Given the description of an element on the screen output the (x, y) to click on. 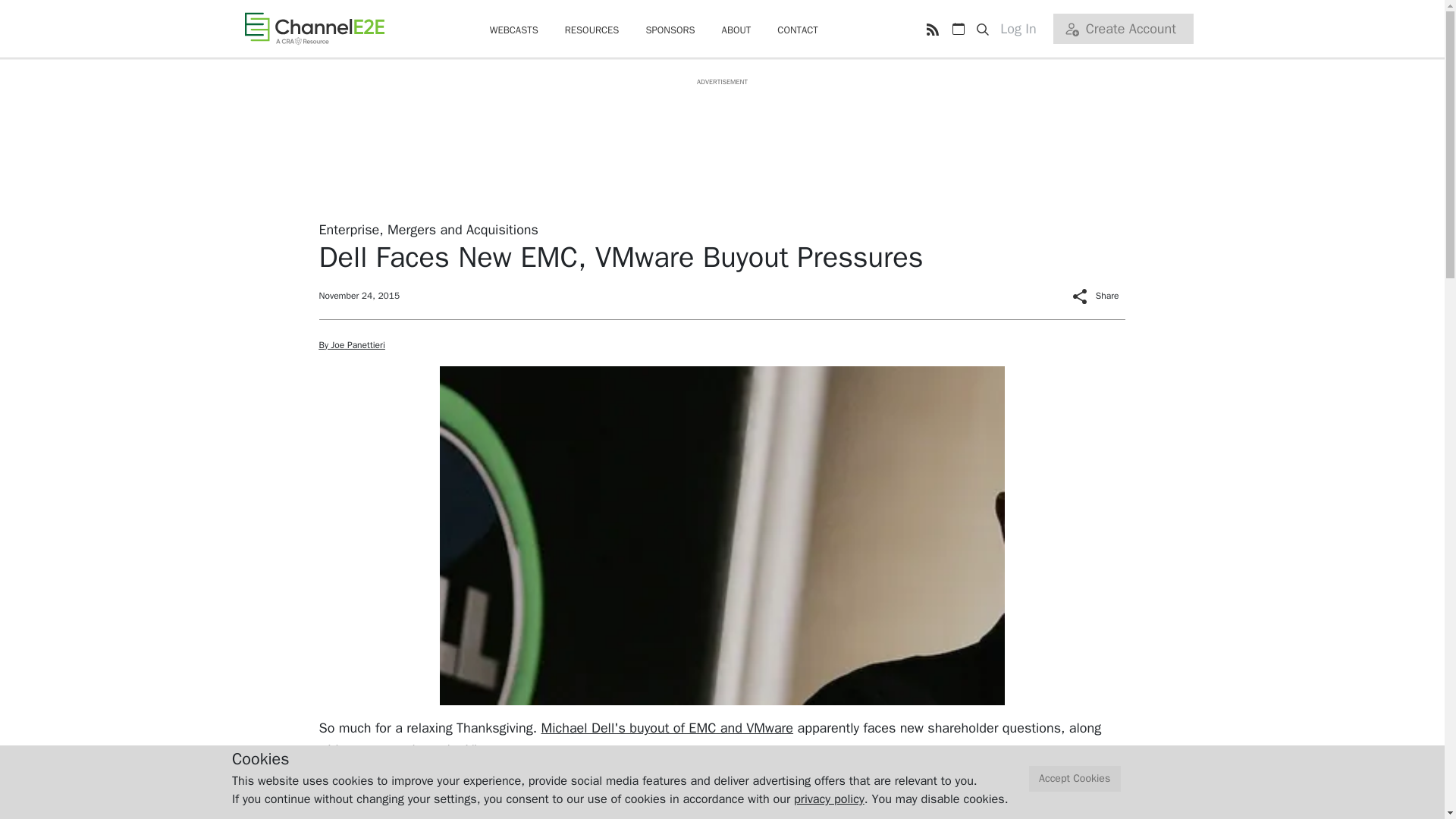
ABOUT (736, 30)
SPONSORS (669, 30)
CONTACT (797, 30)
Mergers and Acquisitions (462, 229)
Virtustream (500, 750)
WEBCASTS (513, 30)
Create Account (1122, 29)
Log In (1023, 29)
ChannelE2E (314, 27)
Accept Cookies (1075, 778)
